Given the description of an element on the screen output the (x, y) to click on. 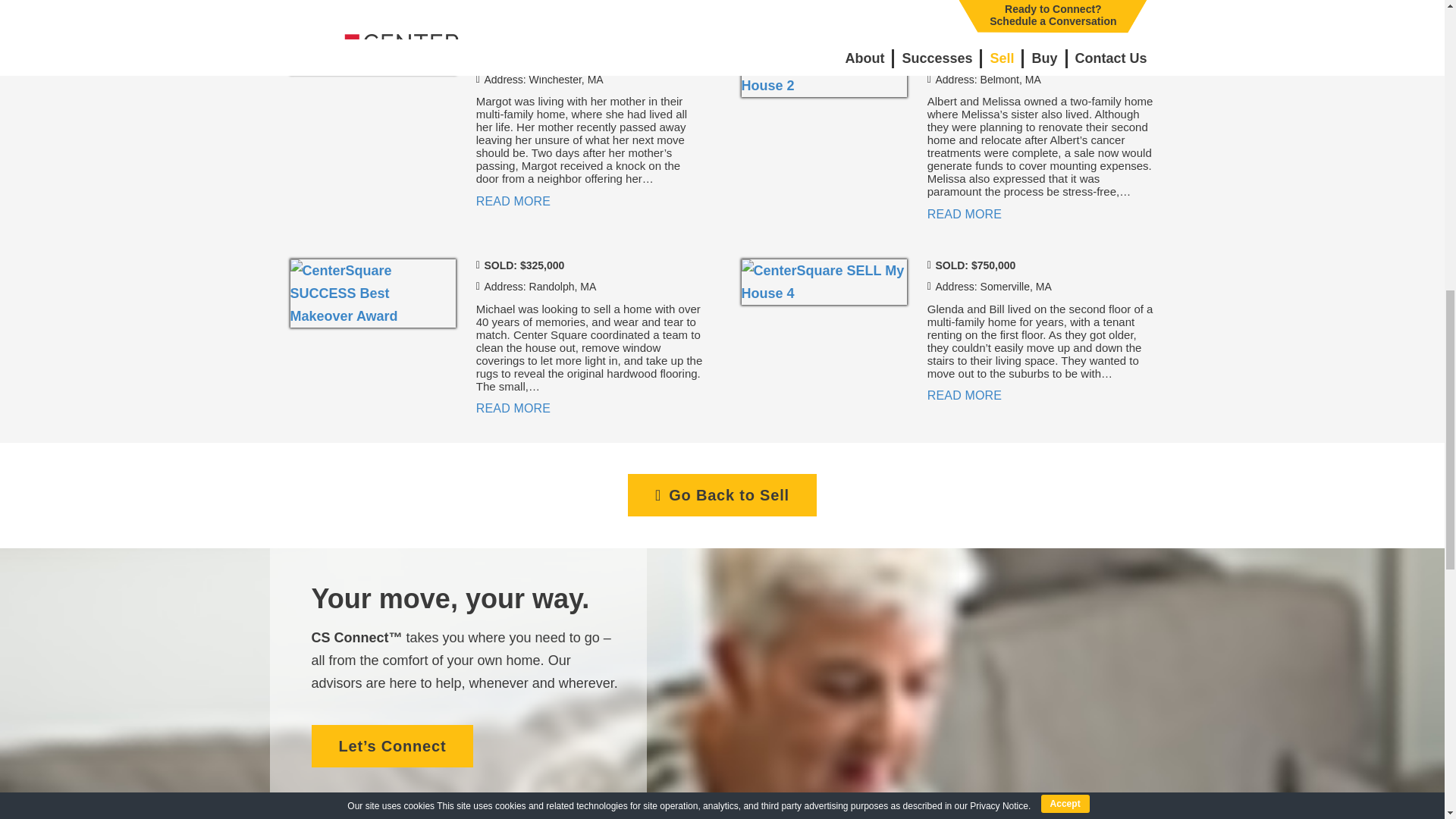
READ MORE (964, 214)
Go Back to Sell (721, 495)
READ MORE (513, 201)
Back to top (1413, 26)
Click to Contact Center Square (392, 745)
READ MORE (964, 395)
READ MORE (513, 408)
Sell (721, 495)
